Given the description of an element on the screen output the (x, y) to click on. 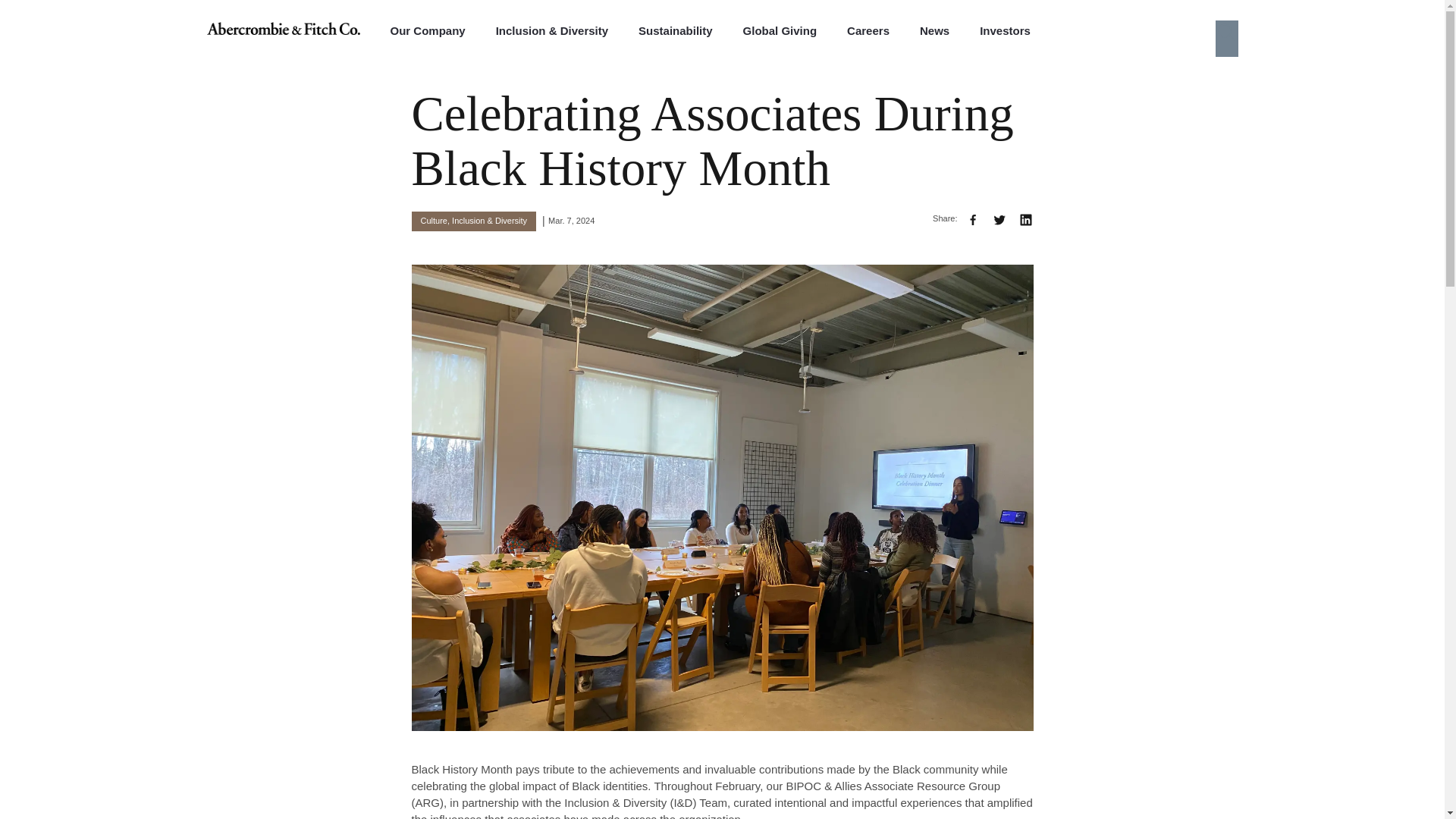
Our Company (427, 28)
Click to share on LinkedIn (1024, 219)
Click to share on Facebook (971, 219)
Click to share on Twitter (999, 219)
Sustainability (676, 28)
Global Giving (779, 28)
